Given the description of an element on the screen output the (x, y) to click on. 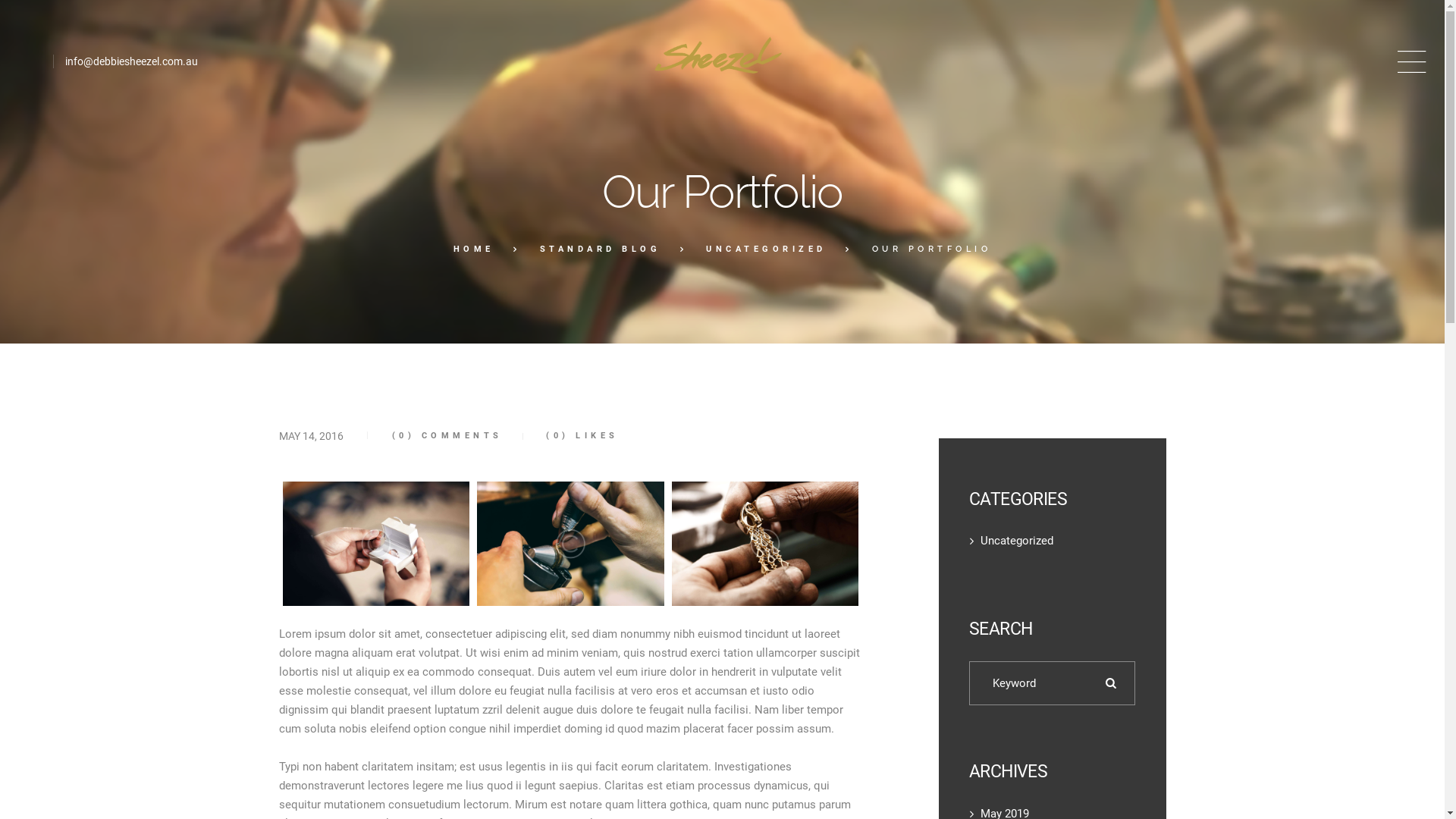
HOME Element type: text (473, 249)
info@debbiesheezel.com.au Element type: text (131, 61)
STANDARD BLOG Element type: text (600, 249)
Search for: Element type: hover (1051, 683)
Uncategorized Element type: text (1016, 540)
(0) COMMENTS Element type: text (446, 435)
UNCATEGORIZED Element type: text (766, 249)
MAY 14, 2016 Element type: text (311, 435)
(0) LIKES Element type: text (563, 435)
